Given the description of an element on the screen output the (x, y) to click on. 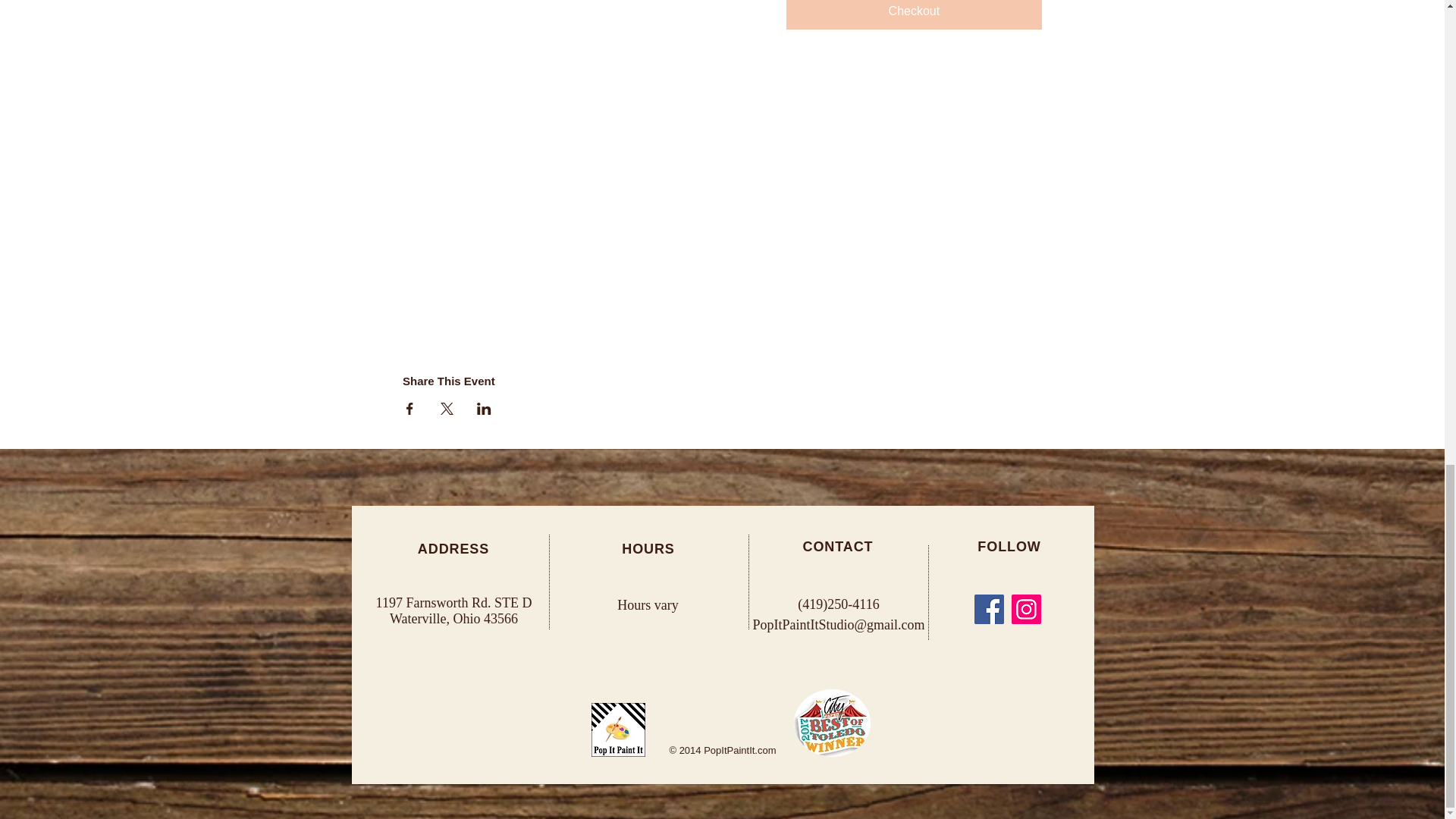
Checkout (914, 14)
